Given the description of an element on the screen output the (x, y) to click on. 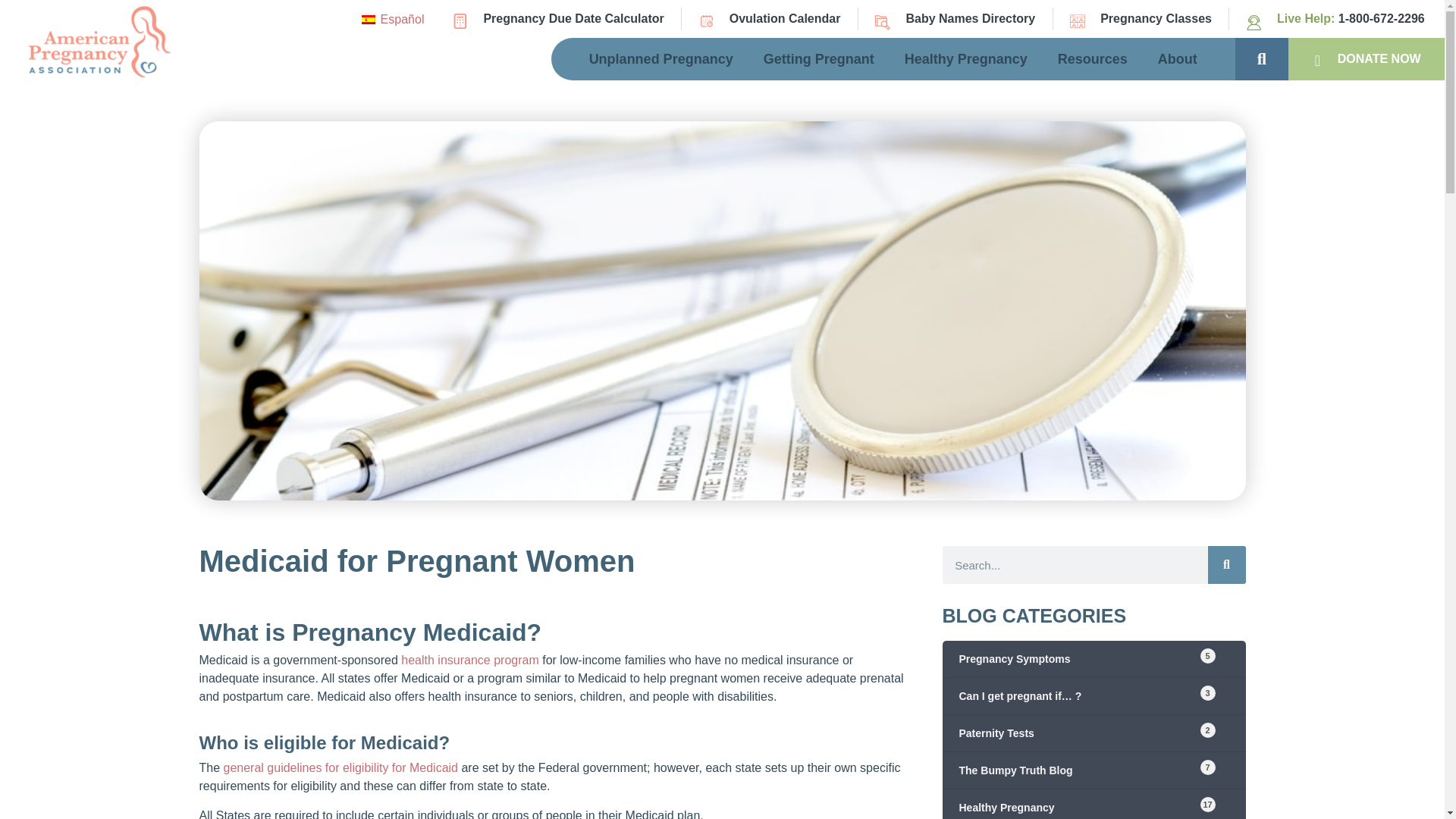
Unplanned Pregnancy (660, 58)
Pregnancy Classes (1140, 18)
Live Help: 1-800-672-2296 (1335, 18)
Ovulation Calendar (769, 18)
Health Insurance for Pregnant Women (469, 659)
Pregnancy Due Date Calculator (557, 18)
Getting Pregnant (818, 58)
Baby Names Directory (955, 18)
